Given the description of an element on the screen output the (x, y) to click on. 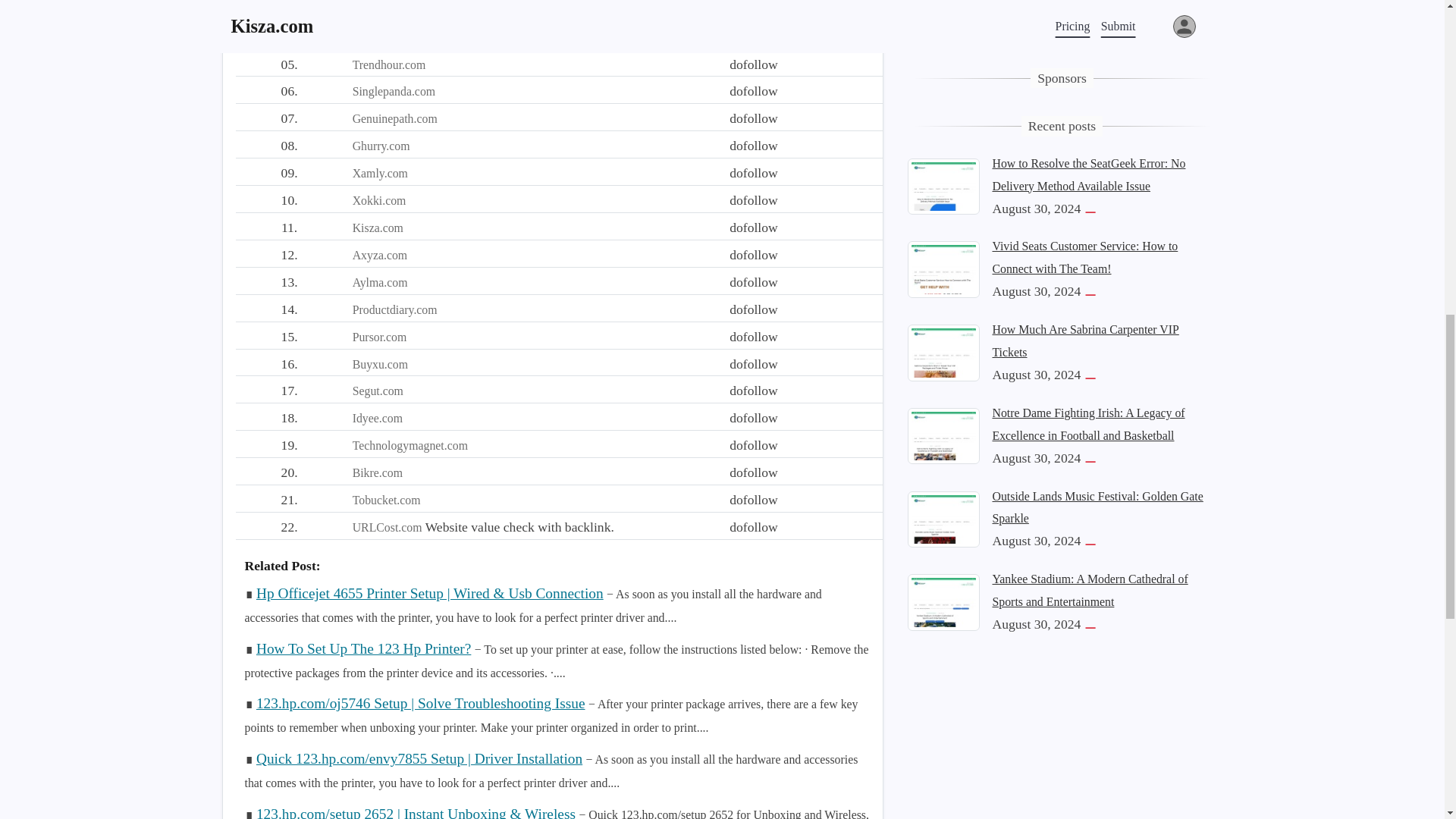
Kisza.com (377, 227)
Technologymagnet.com (409, 445)
Genuinepath.com (395, 118)
Idyee.com (377, 418)
Trendhour.com (389, 64)
Aylma.com (379, 282)
Xucal.com (378, 37)
Xamly.com (379, 173)
Singlepanda.com (393, 91)
Productdiary.com (395, 309)
